Given the description of an element on the screen output the (x, y) to click on. 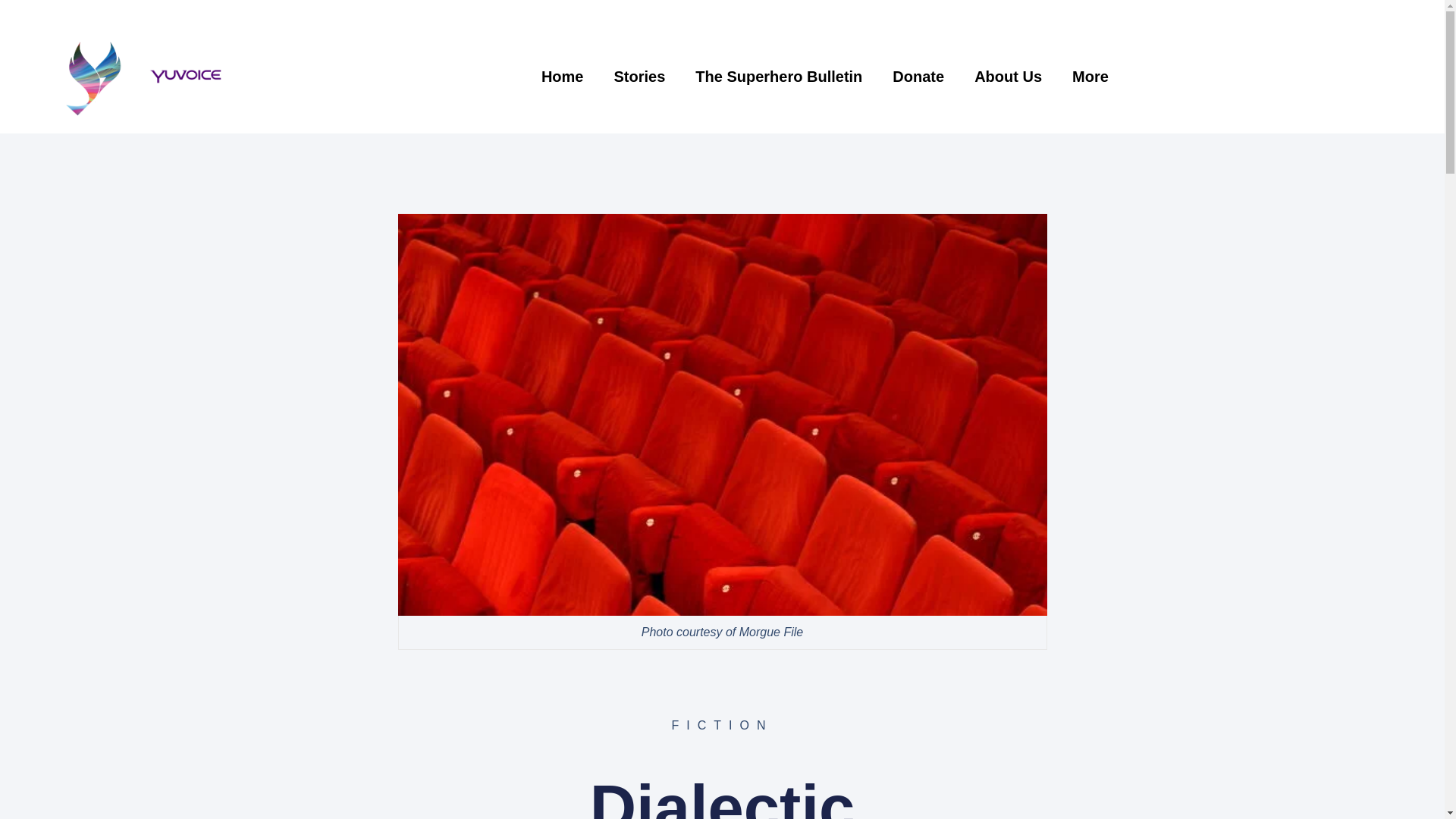
Stories (639, 76)
Home (561, 76)
About Us (1008, 76)
Donate (918, 76)
The Superhero Bulletin (778, 76)
More (1090, 76)
